Given the description of an element on the screen output the (x, y) to click on. 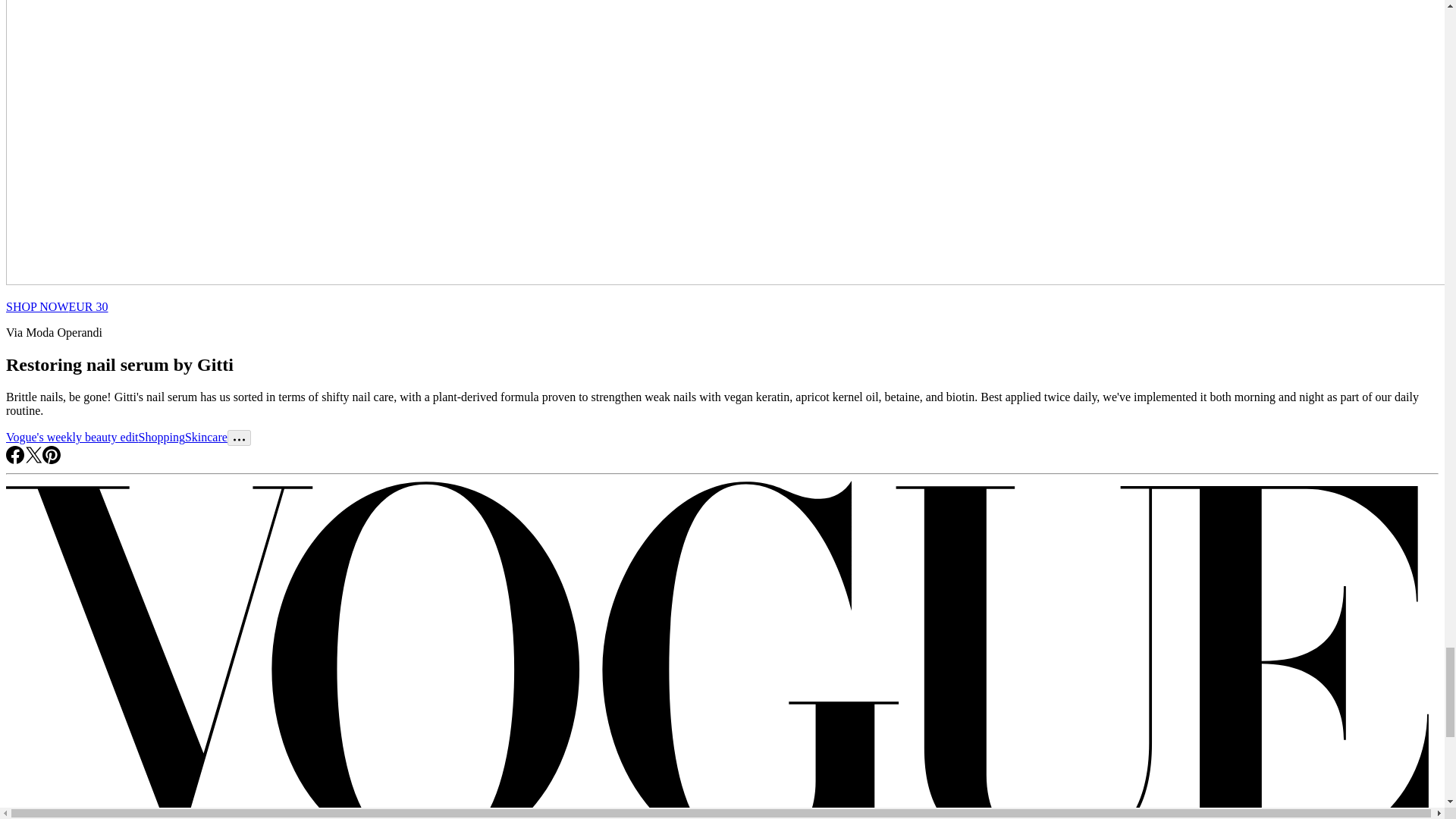
Skincare (205, 436)
Shopping (161, 436)
Vogue's weekly beauty edit (71, 436)
SHOP NOWEUR 30 (56, 306)
